Given the description of an element on the screen output the (x, y) to click on. 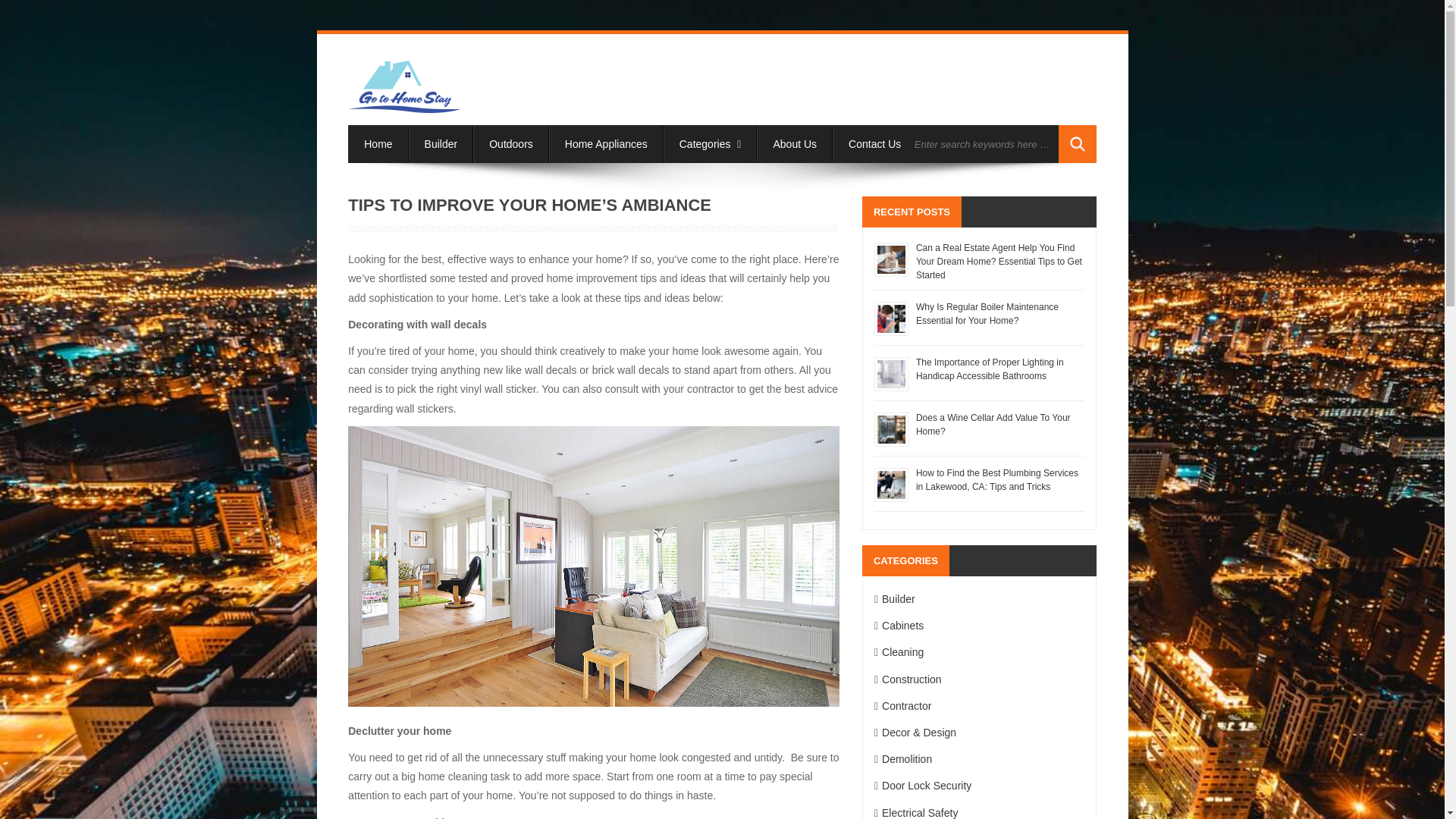
About Us (794, 143)
Search for: (982, 143)
Contact Us (874, 143)
Categories (710, 143)
Advertise with Us (973, 143)
Outdoors (510, 143)
Home Appliances (605, 143)
Builder (441, 143)
Home (377, 143)
